Given the description of an element on the screen output the (x, y) to click on. 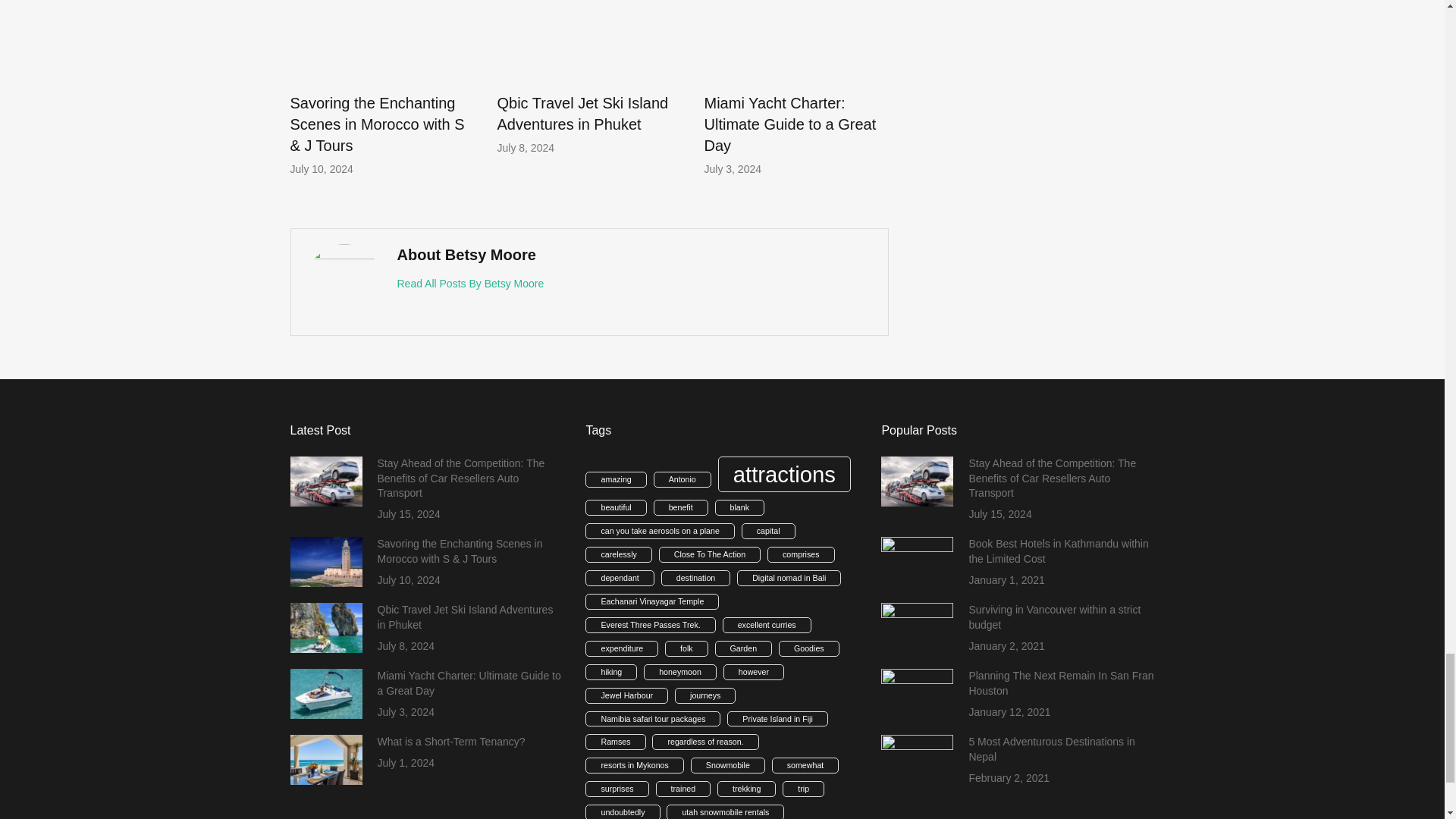
Miami Yacht Charter: Ultimate Guide to a Great Day (789, 124)
Qbic Travel Jet Ski Island Adventures in Phuket (582, 113)
